Given the description of an element on the screen output the (x, y) to click on. 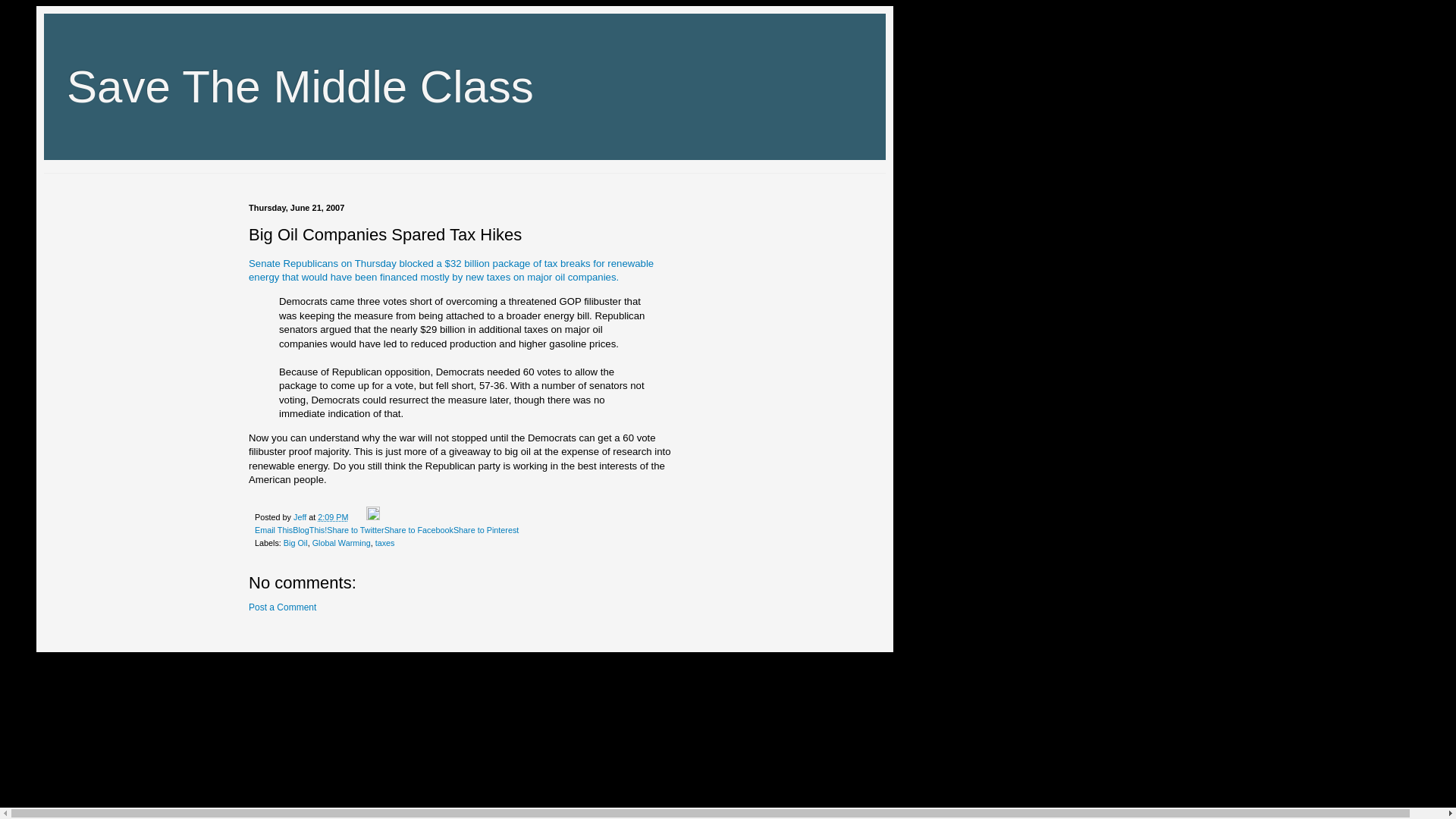
Share to Facebook (418, 529)
Save The Middle Class (300, 86)
BlogThis! (309, 529)
taxes (384, 542)
Share to Pinterest (485, 529)
author profile (301, 516)
Global Warming (342, 542)
Share to Facebook (418, 529)
Big Oil (295, 542)
Jeff (301, 516)
